Given the description of an element on the screen output the (x, y) to click on. 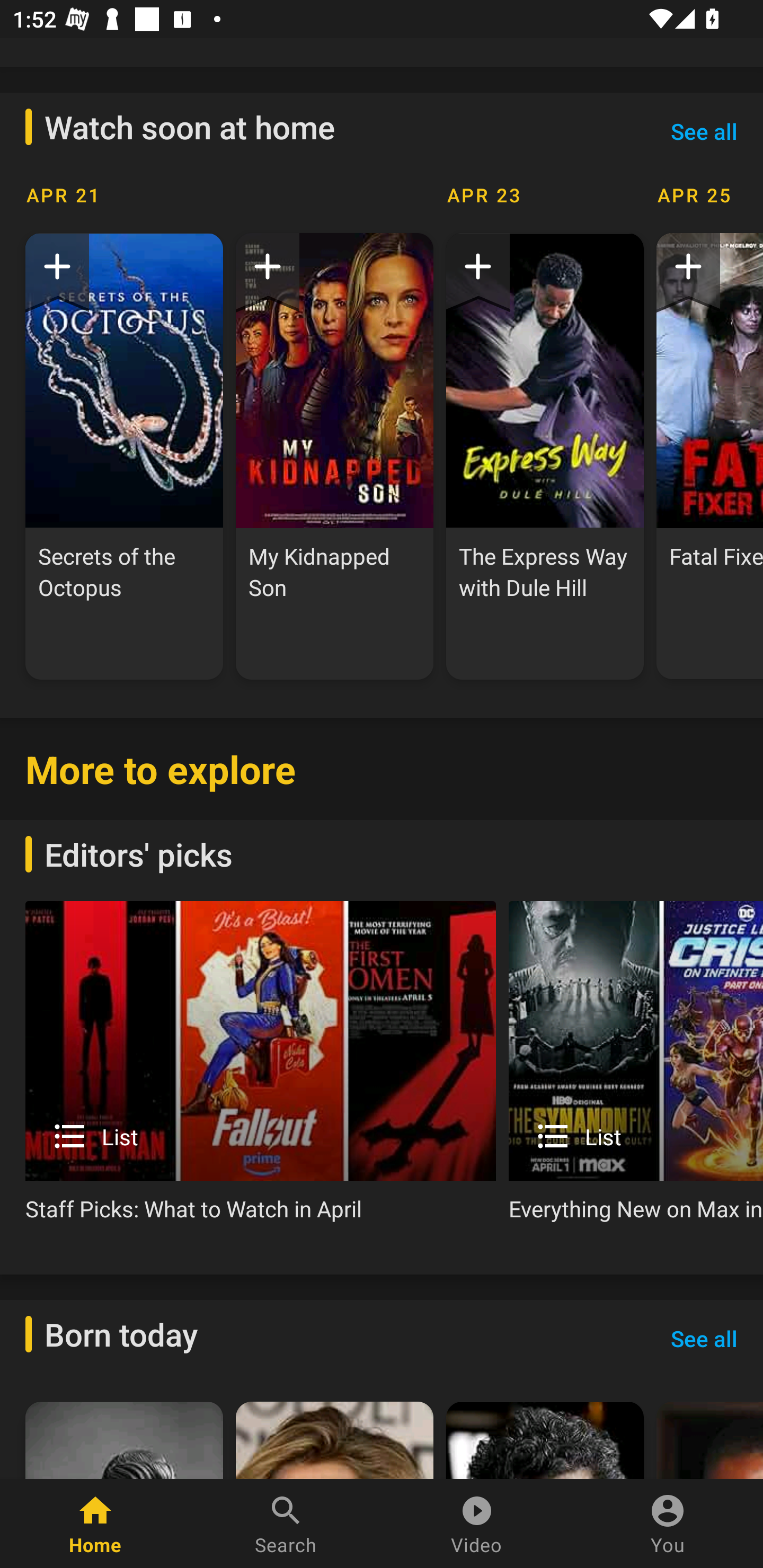
See all See all Watch soon at home (703, 130)
Secrets of the Octopus (123, 455)
My Kidnapped Son (334, 455)
The Express Way with Dule Hill (544, 455)
List Staff Picks: What to Watch in April (260, 1069)
List Everything New on Max in April (635, 1069)
See all See all Born today (703, 1337)
Search (285, 1523)
Video (476, 1523)
You (667, 1523)
